Given the description of an element on the screen output the (x, y) to click on. 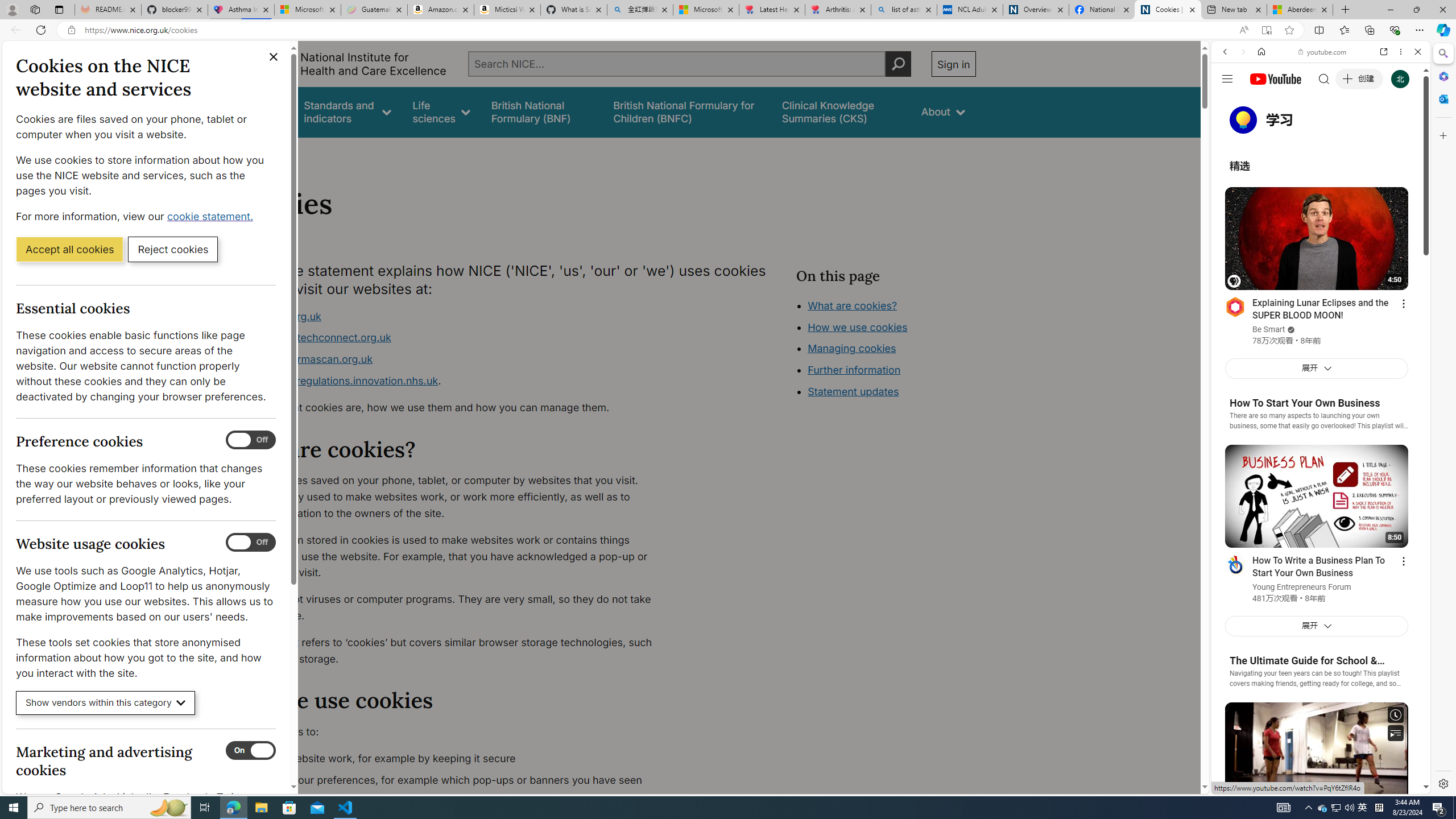
Trailer #2 [HD] (1320, 336)
Further information (854, 369)
Life sciences (440, 111)
Search videos from youtube.com (1299, 373)
How To Start Your Own Business (1305, 403)
